Given the description of an element on the screen output the (x, y) to click on. 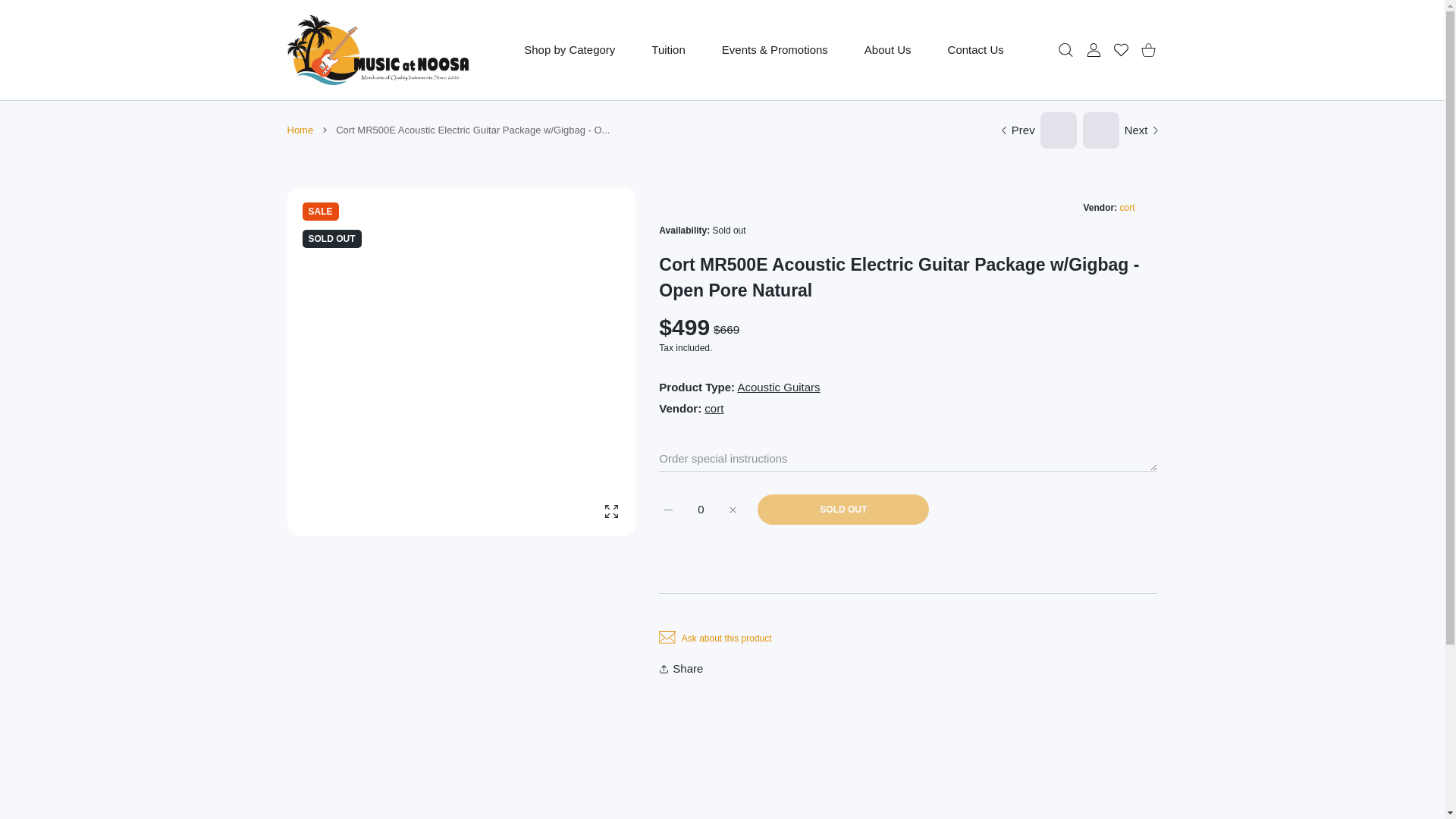
Music at Noosa (377, 50)
Contact Us (975, 49)
About Us (887, 49)
Wishlist (1120, 49)
Tuition (667, 49)
Acoustic Guitars (777, 386)
Shopping Cart (1147, 49)
0 (700, 509)
Shop by Category (568, 49)
USER ACCOUNT (1094, 49)
Home (299, 130)
